Given the description of an element on the screen output the (x, y) to click on. 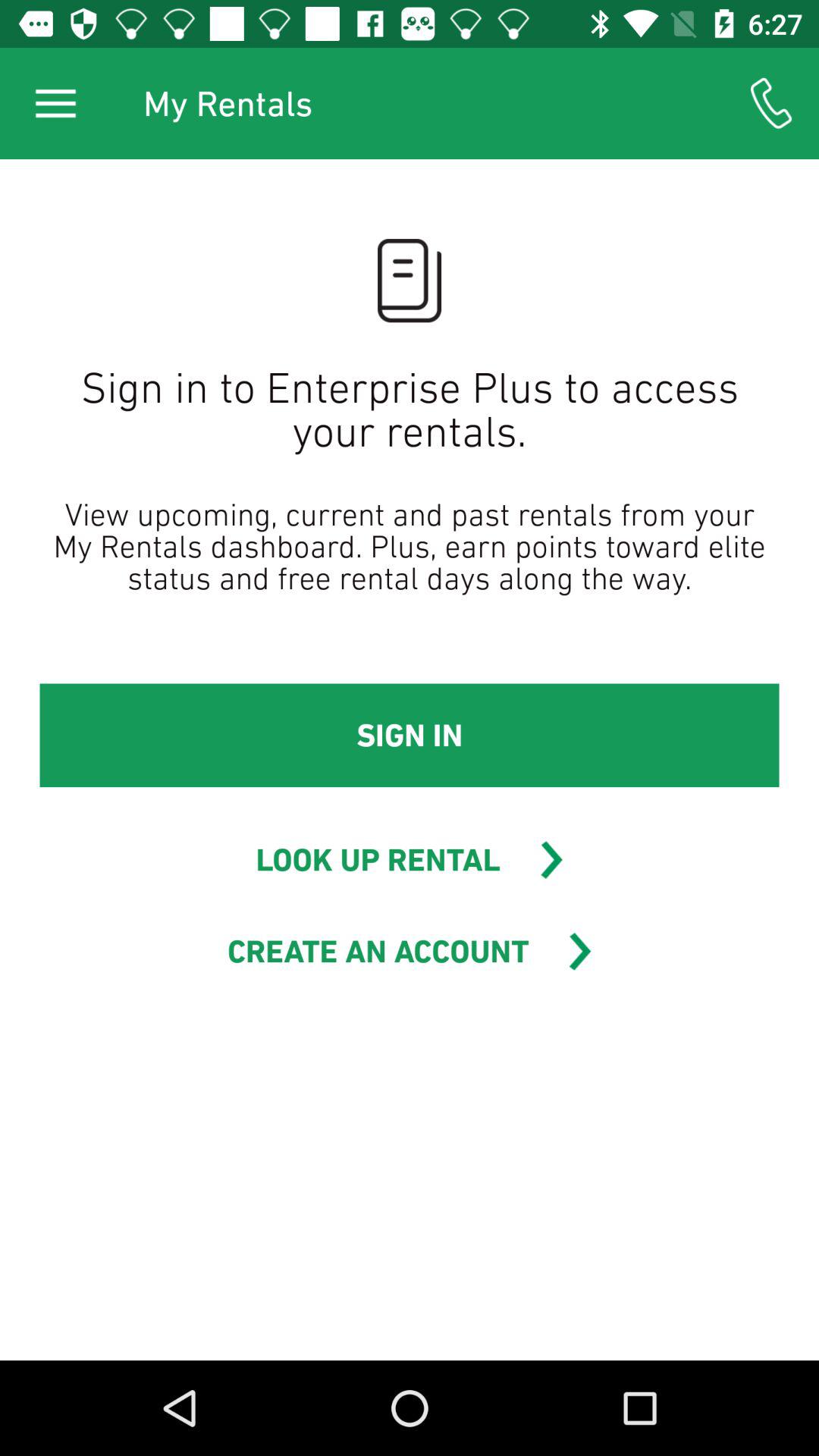
swipe until the look up rental icon (377, 859)
